Given the description of an element on the screen output the (x, y) to click on. 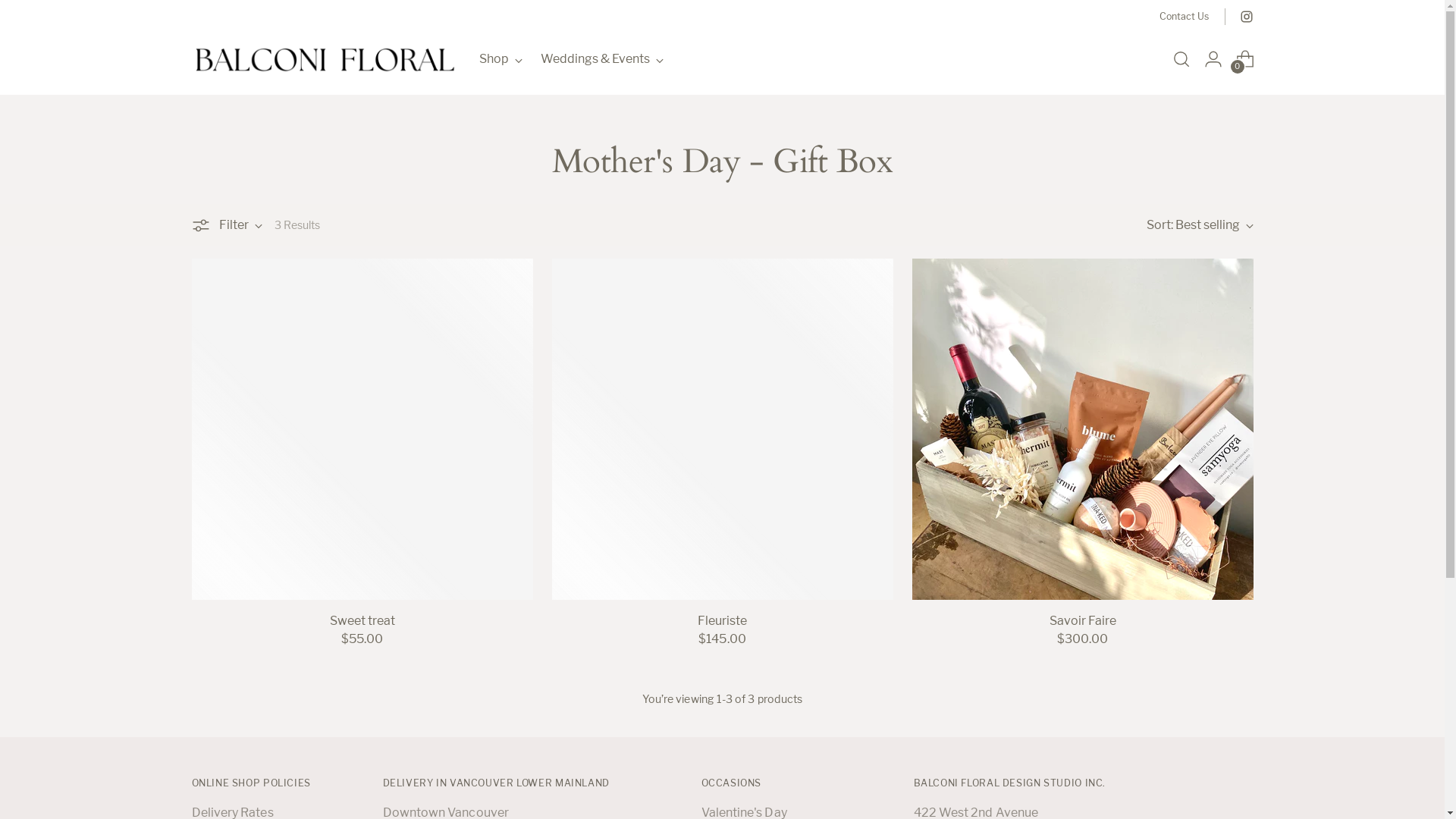
Savoir Faire Element type: text (1082, 620)
Weddings & Events Element type: text (600, 58)
Contact Us Element type: text (1184, 16)
Sort: Best selling Element type: text (1199, 224)
Balconi Floral Design Studio Inc. on Instagram Element type: hover (1245, 16)
Fleuriste Element type: text (721, 620)
0 Element type: text (1245, 58)
Filter Element type: text (226, 225)
Shop Element type: text (500, 58)
Sweet treat Element type: text (361, 620)
